Given the description of an element on the screen output the (x, y) to click on. 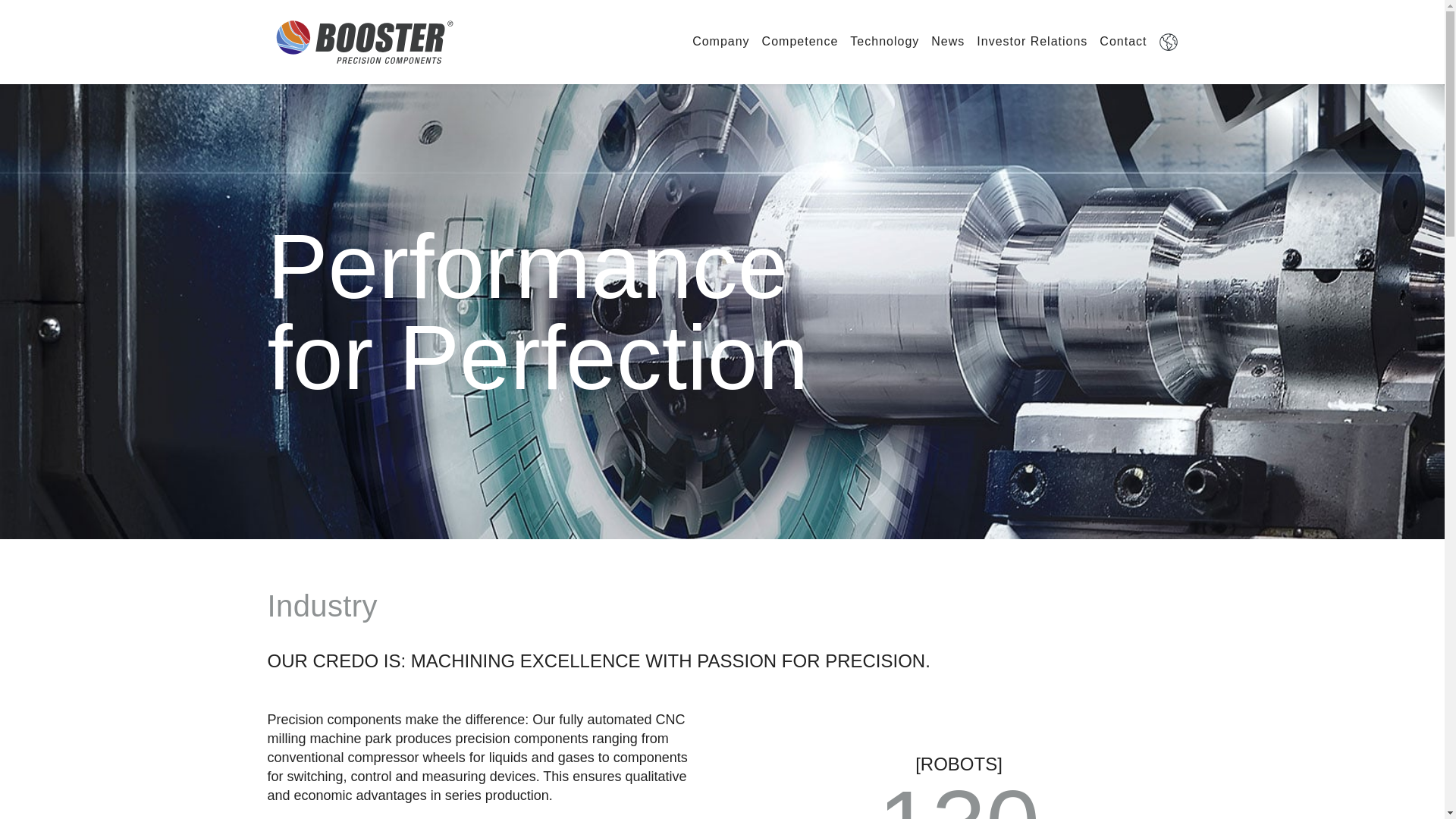
Investor Relations (1031, 41)
Investor Relations (1031, 41)
News (947, 41)
Contact (1123, 41)
Contact (1123, 41)
News (947, 41)
